Given the description of an element on the screen output the (x, y) to click on. 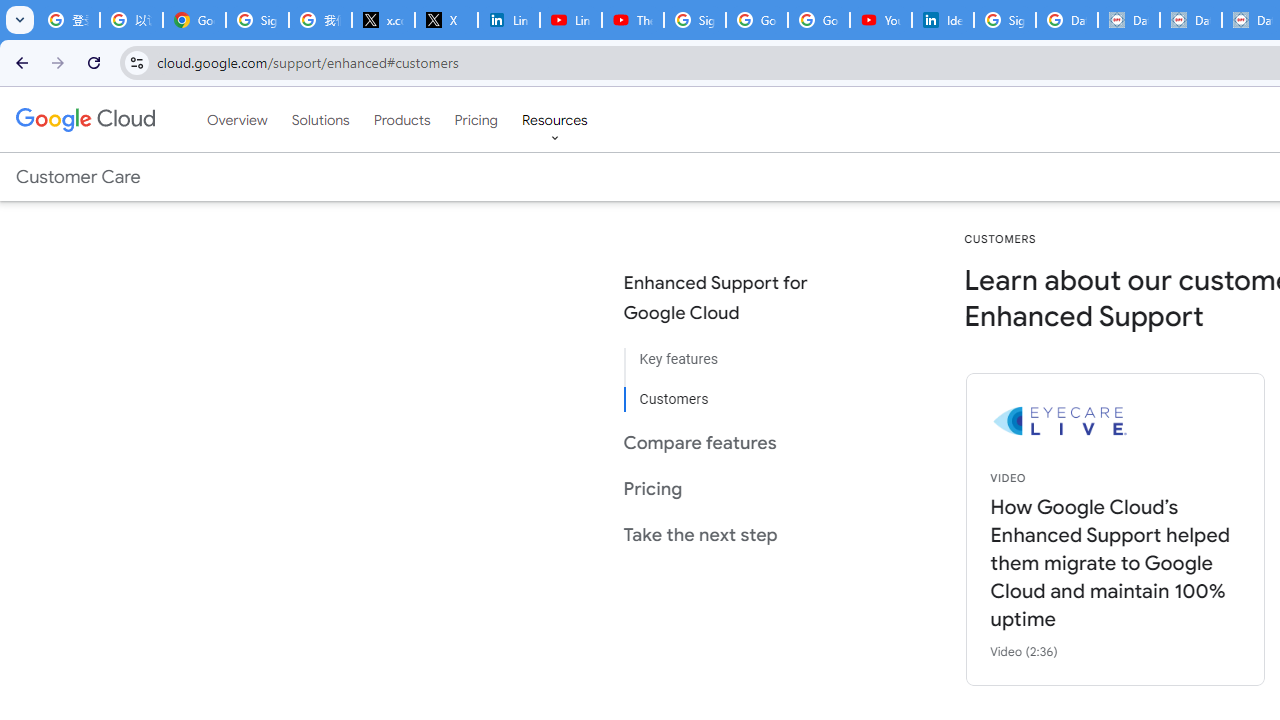
Solutions (320, 119)
Customers (732, 391)
Take the next step (732, 534)
LinkedIn - YouTube (570, 20)
LinkedIn Privacy Policy (508, 20)
Sign in - Google Accounts (1004, 20)
Products (401, 119)
X (445, 20)
Resources (553, 119)
